Given the description of an element on the screen output the (x, y) to click on. 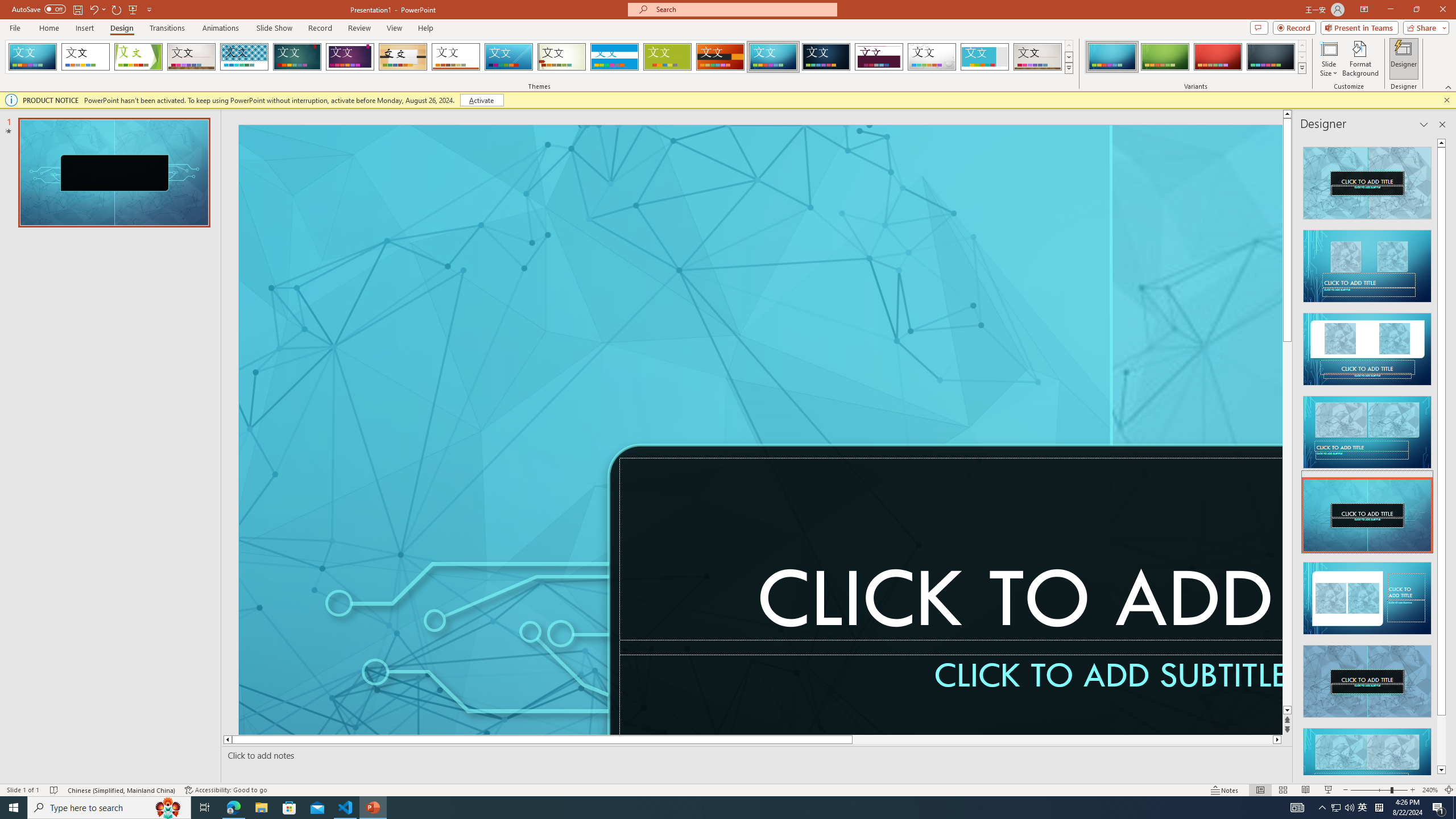
Gallery (1037, 56)
Activate (481, 100)
Zoom 240% (1430, 790)
Themes (1068, 67)
Droplet (931, 56)
Frame (984, 56)
Slide Notes (754, 755)
Circuit (772, 56)
